Given the description of an element on the screen output the (x, y) to click on. 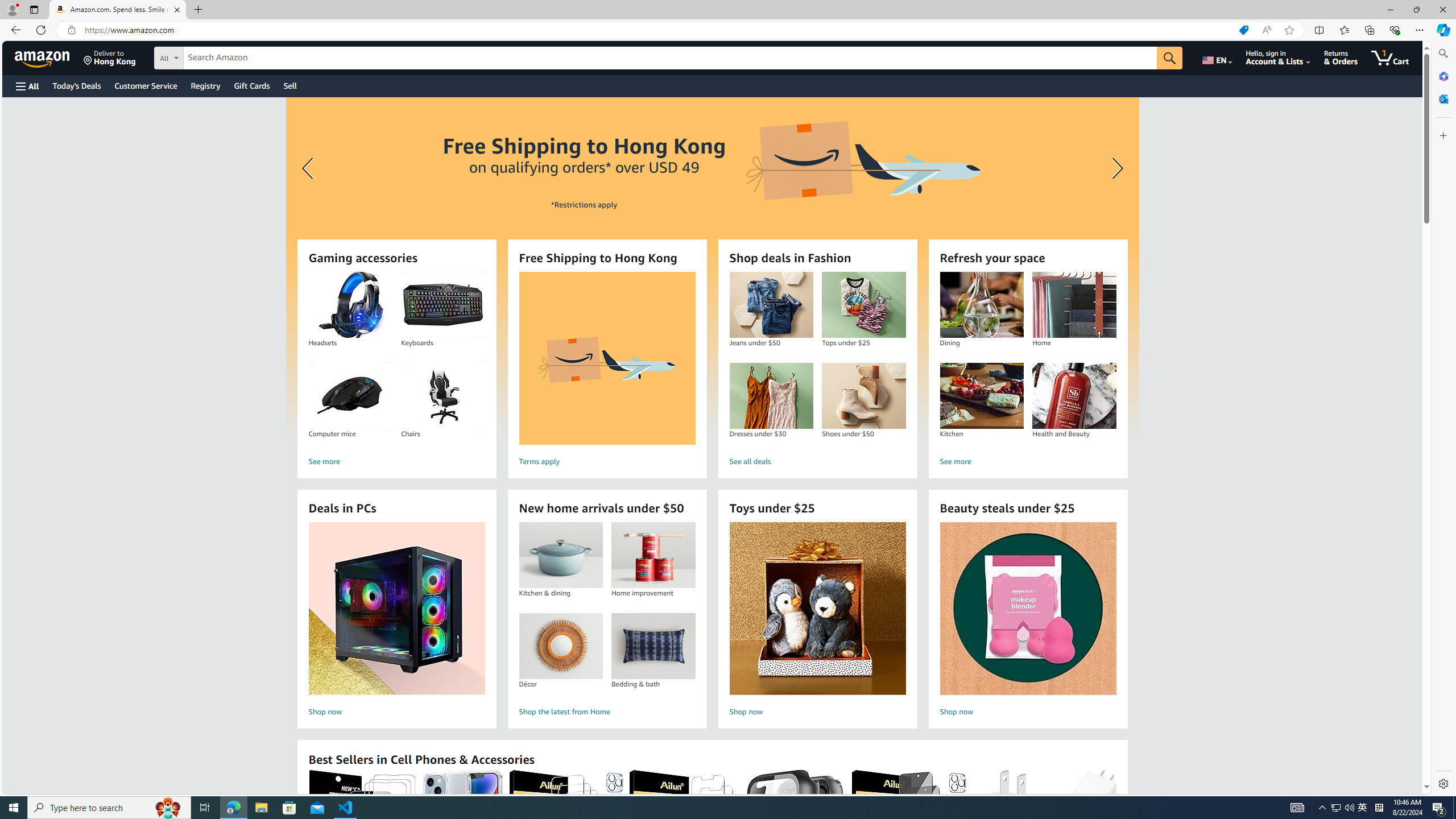
Dresses under $30 (770, 395)
Tops under $25 (863, 304)
Headsets (350, 304)
Returns & Orders (1340, 57)
Chairs (442, 395)
Kitchen (981, 395)
Free Shipping to Hong Kong Terms apply (606, 370)
